Given the description of an element on the screen output the (x, y) to click on. 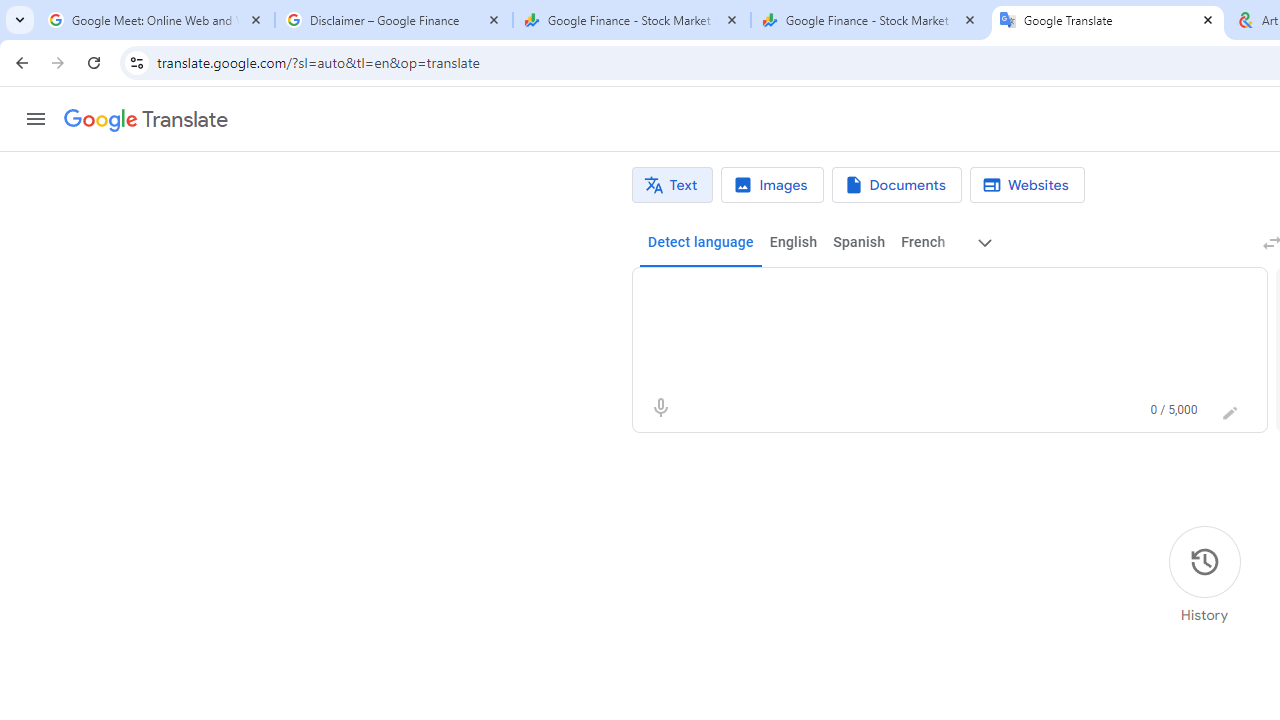
History (1204, 575)
English (793, 242)
Main menu (35, 119)
French (922, 242)
Text translation (672, 185)
Detect language (699, 242)
Google Translate (1108, 20)
Website translation (1026, 185)
